Given the description of an element on the screen output the (x, y) to click on. 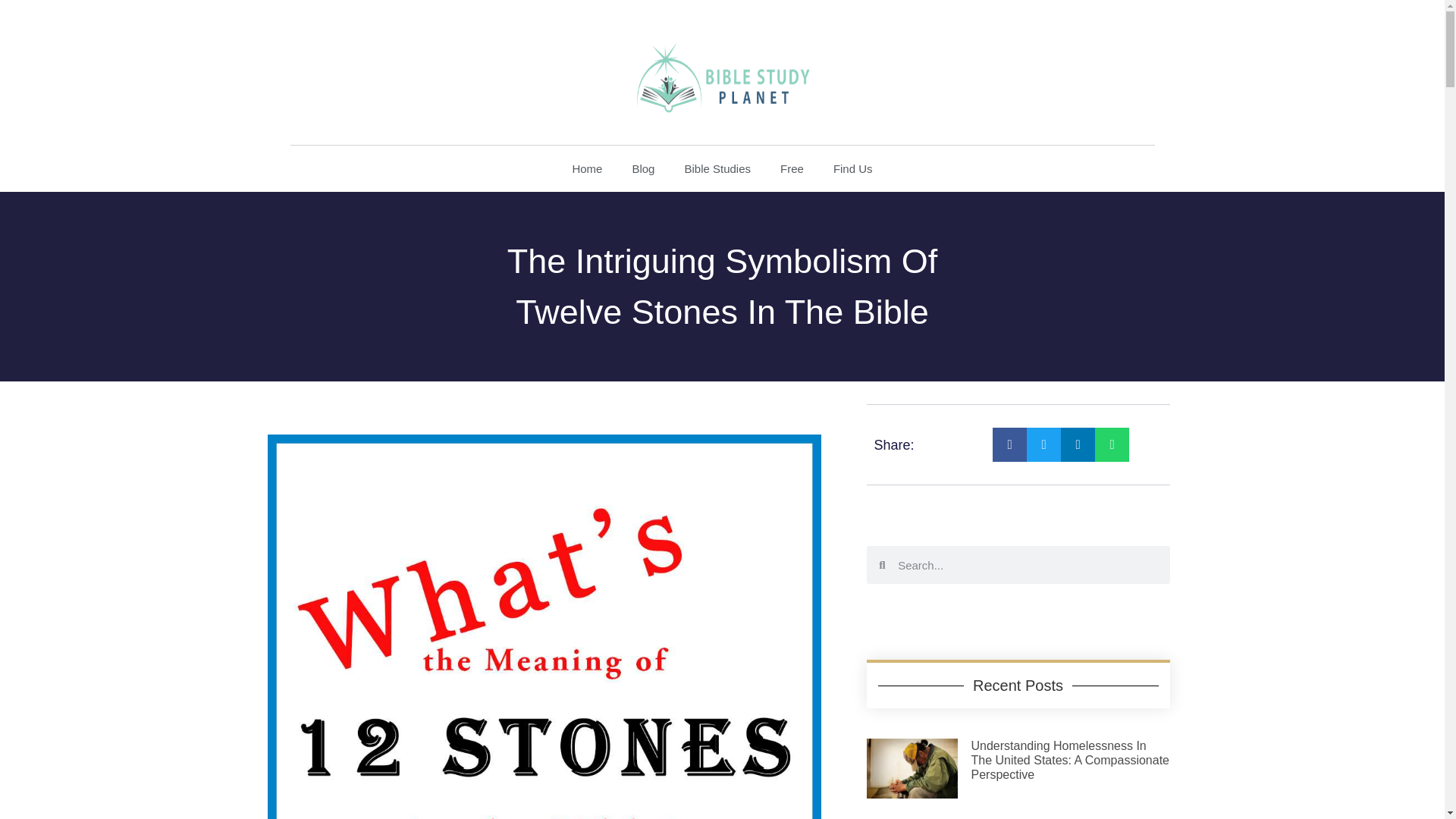
Find Us (853, 168)
Free (791, 168)
Bible Studies (717, 168)
Home (586, 168)
Blog (642, 168)
